Given the description of an element on the screen output the (x, y) to click on. 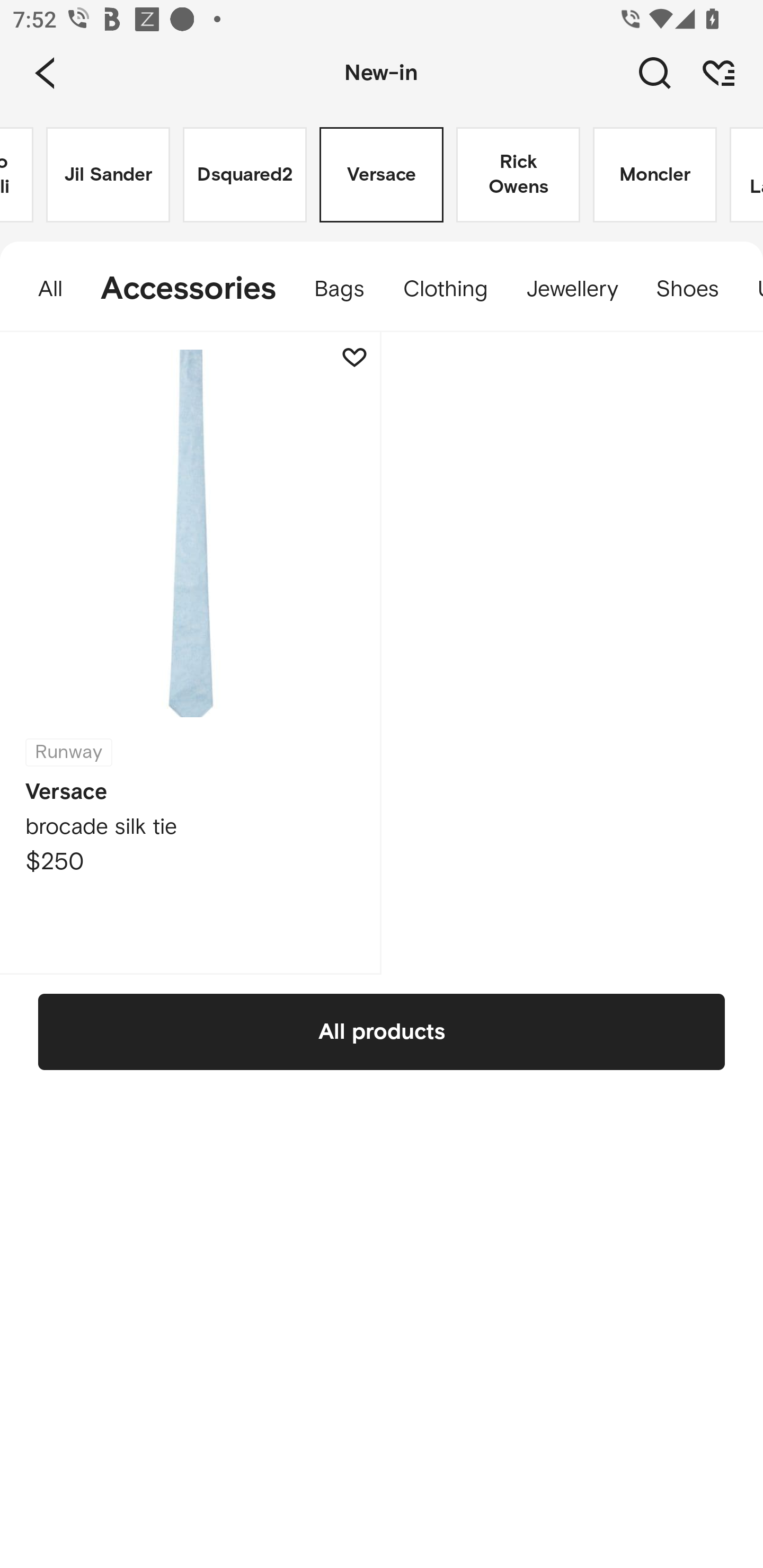
Jil Sander (107, 174)
Dsquared2 (244, 174)
Versace (381, 174)
Rick Owens (517, 174)
Moncler (654, 174)
All (40, 289)
Accessories (188, 289)
Bags (339, 289)
Clothing (444, 289)
Jewellery (571, 289)
Shoes (687, 289)
Runway Versace brocade silk tie $250 (190, 652)
All products (381, 1031)
